Given the description of an element on the screen output the (x, y) to click on. 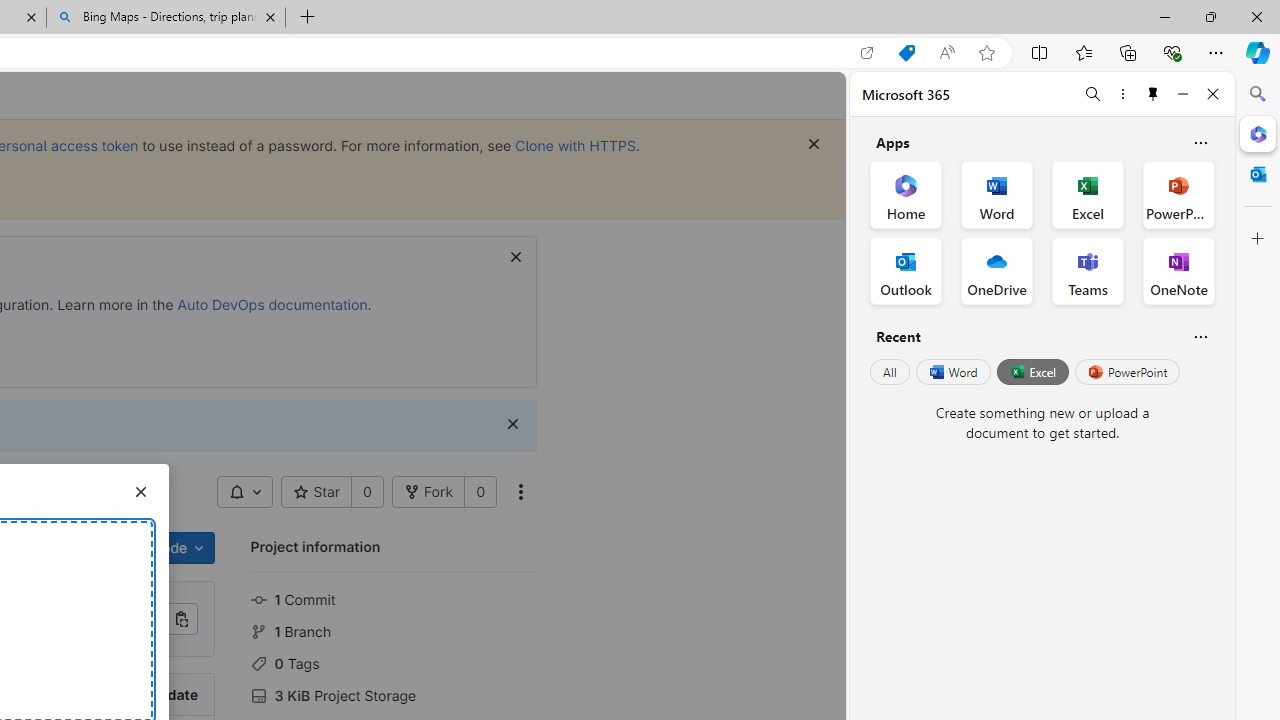
All (890, 372)
Excel (1031, 372)
1 Branch (395, 629)
0 (479, 491)
Fork (427, 491)
Outlook Office App (906, 270)
3 KiB Project Storage (395, 693)
PowerPoint (1127, 372)
